Given the description of an element on the screen output the (x, y) to click on. 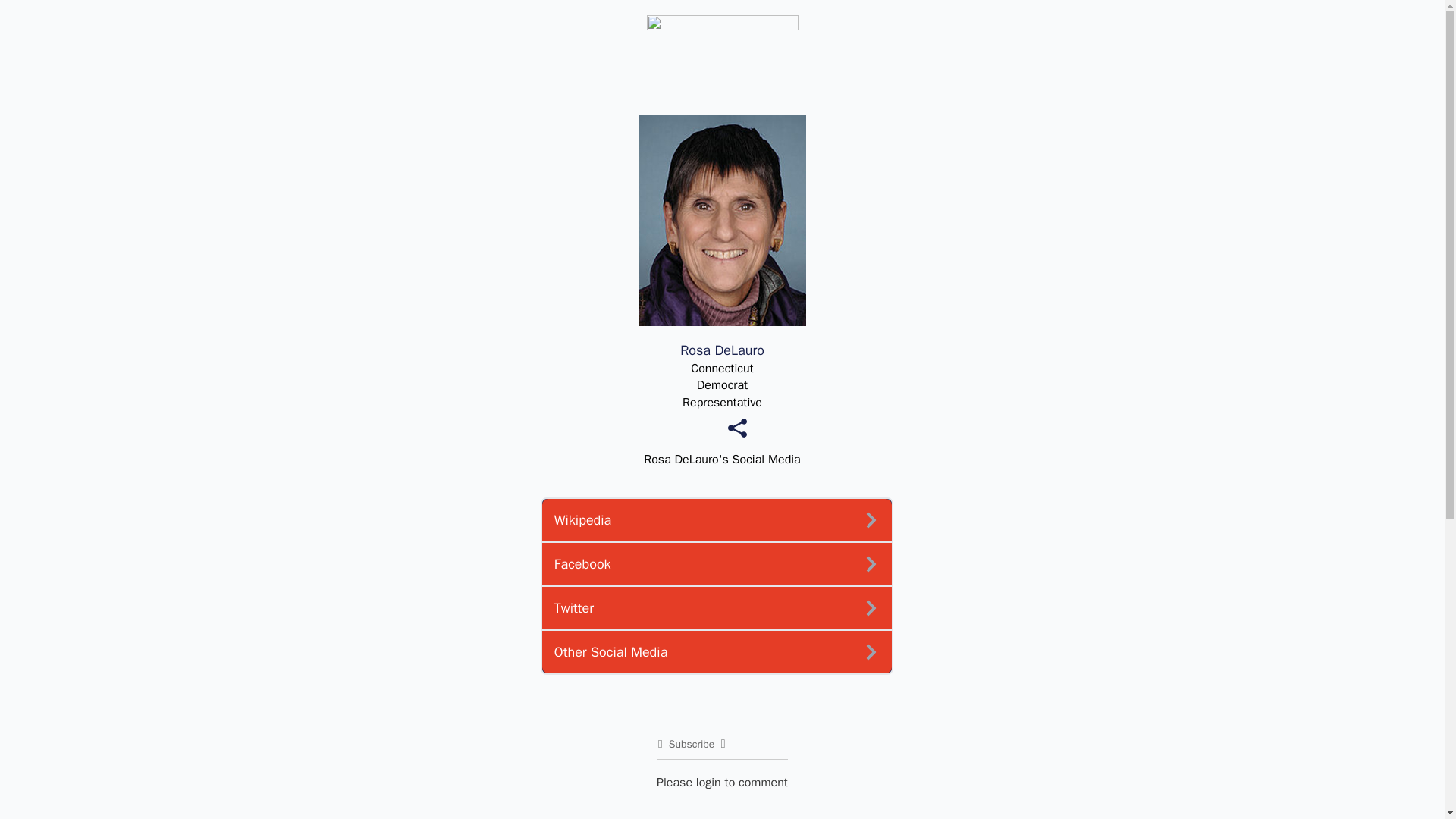
Twitter (716, 608)
Facebook (716, 564)
Rosa DeLauro (721, 350)
Wikipedia (716, 520)
Other Social Media (716, 651)
